Given the description of an element on the screen output the (x, y) to click on. 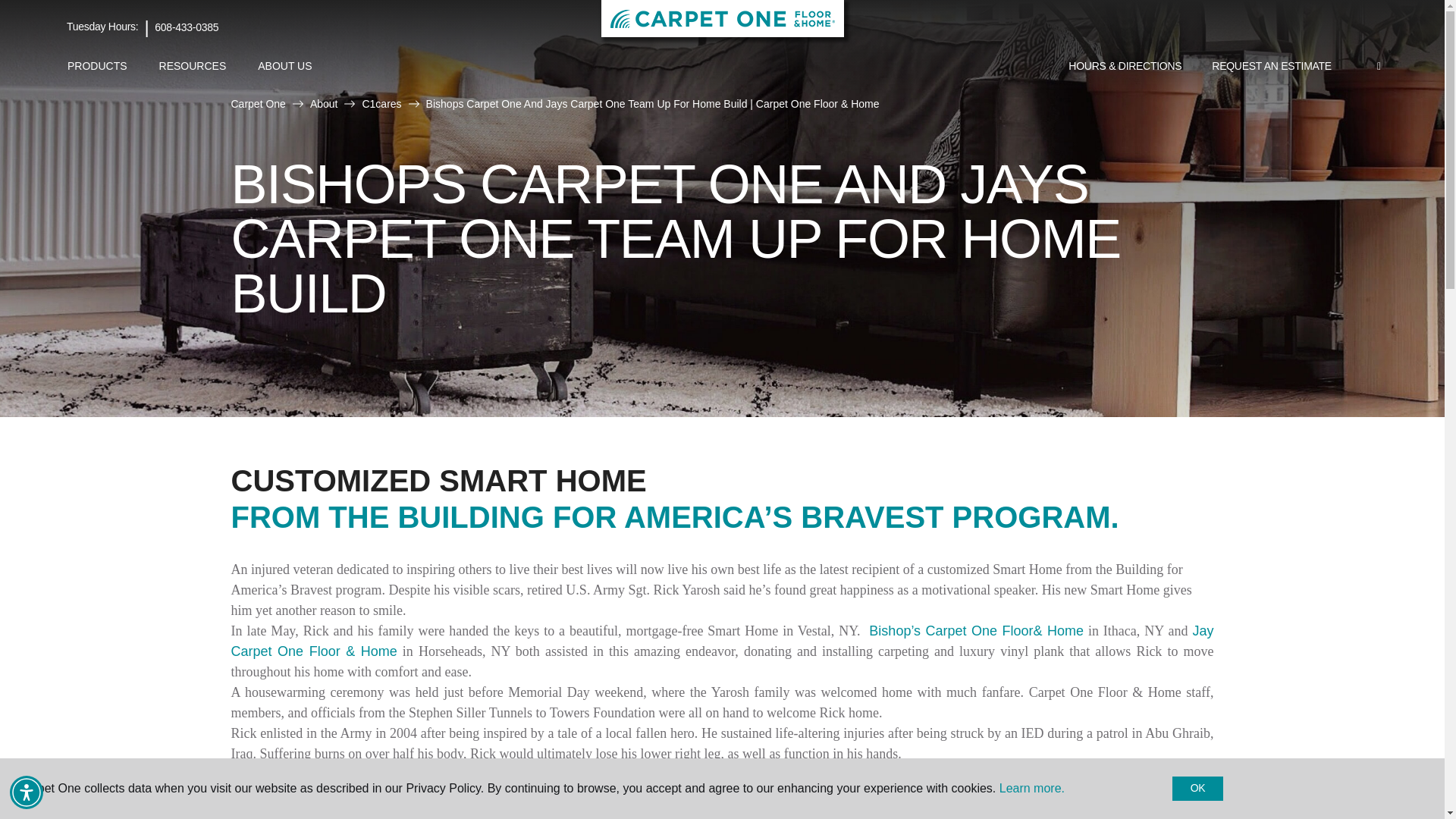
Accessibility Menu (26, 792)
PRODUCTS (97, 66)
RESOURCES (193, 66)
REQUEST AN ESTIMATE (1271, 66)
608-433-0385 (186, 27)
ABOUT US (284, 66)
